Given the description of an element on the screen output the (x, y) to click on. 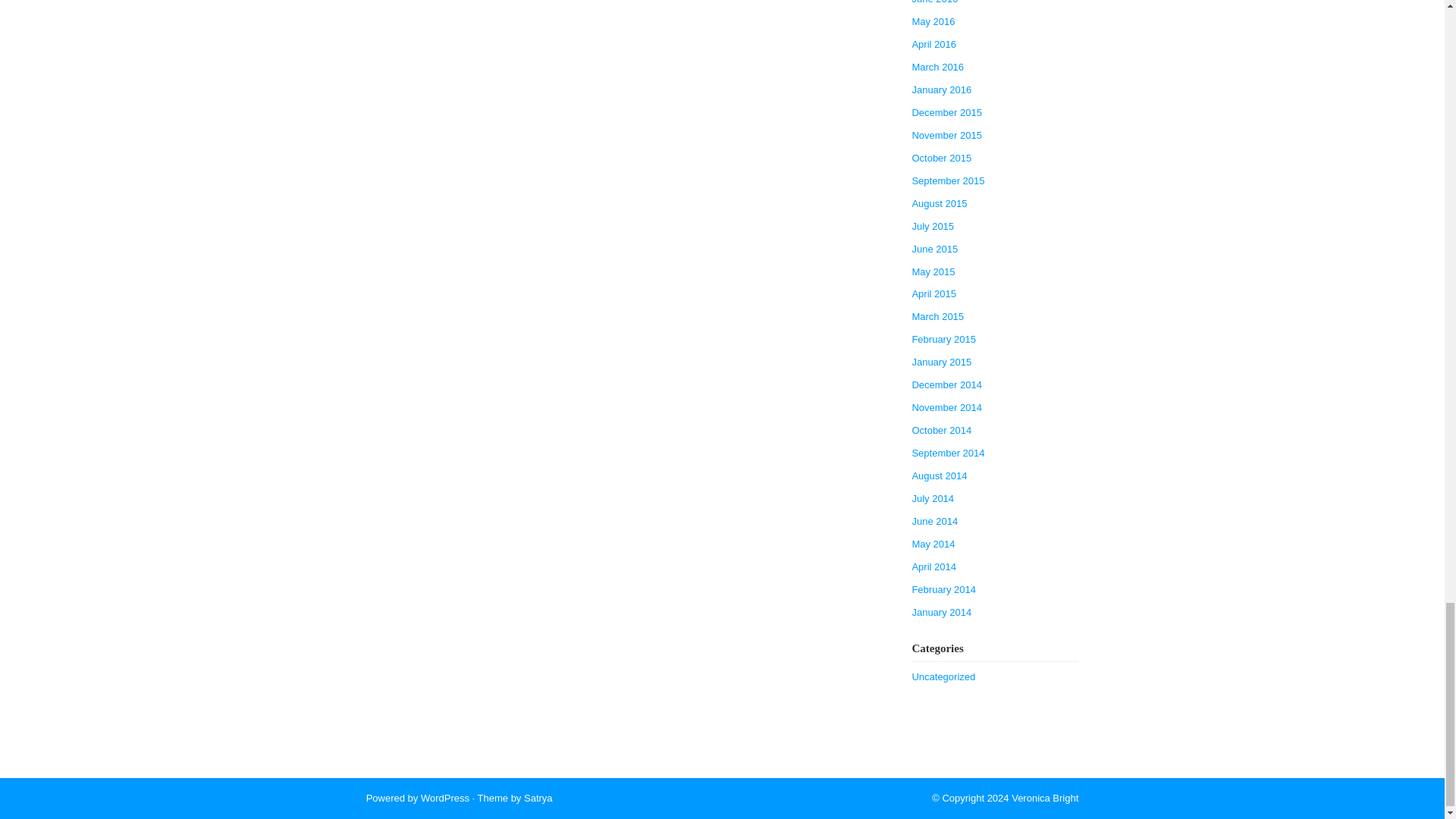
A Semantic Personal Publishing Platform (444, 797)
Veronica Bright (1044, 797)
Satrya (538, 797)
